Given the description of an element on the screen output the (x, y) to click on. 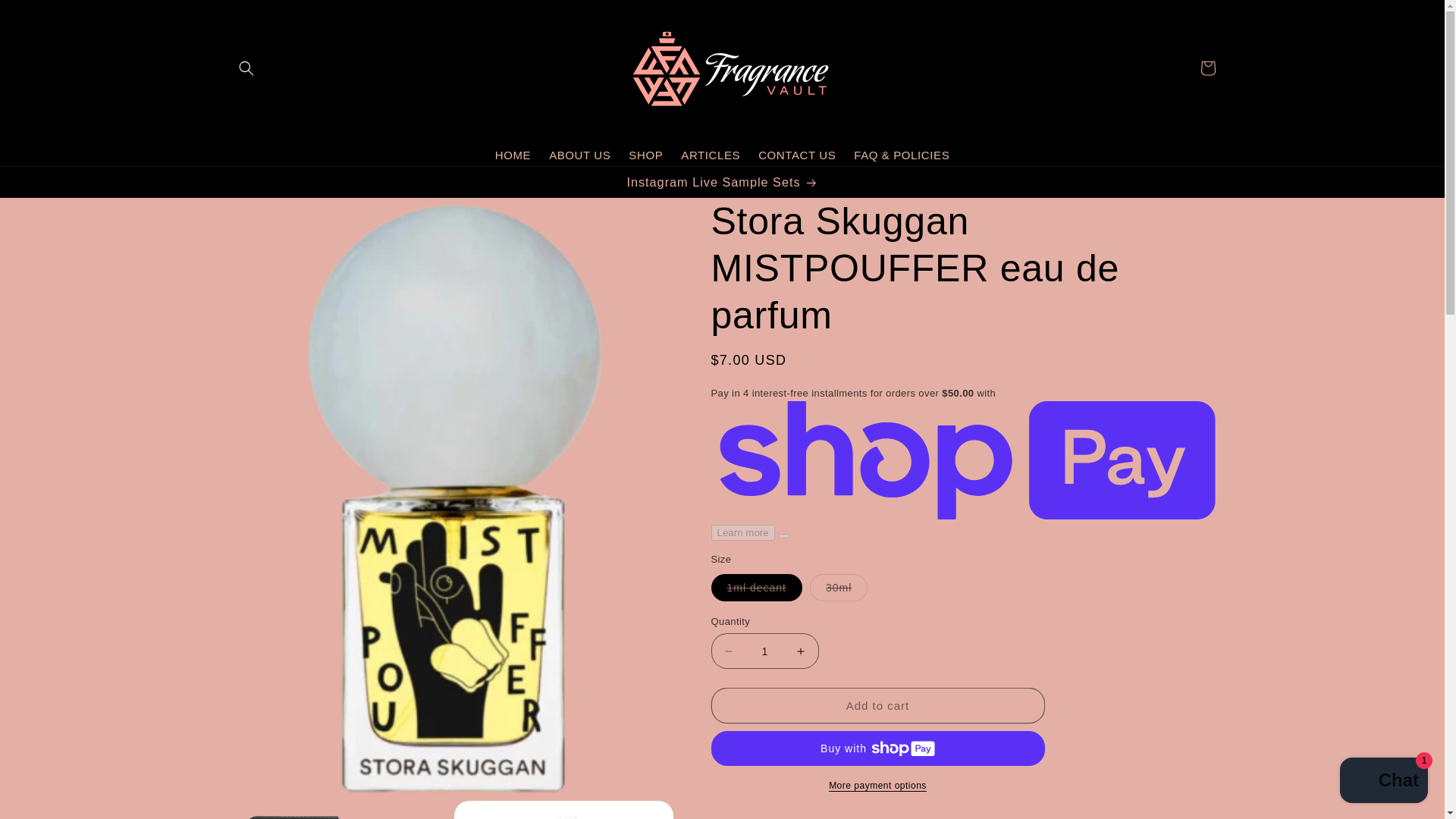
Shopify online store chat (1383, 781)
ABOUT US (580, 154)
ARTICLES (710, 154)
1 (764, 651)
Cart (1207, 68)
HOME (513, 154)
Skip to product information (274, 214)
CONTACT US (796, 154)
SHOP (645, 154)
Skip to content (45, 17)
Add to cart (878, 705)
